Given the description of an element on the screen output the (x, y) to click on. 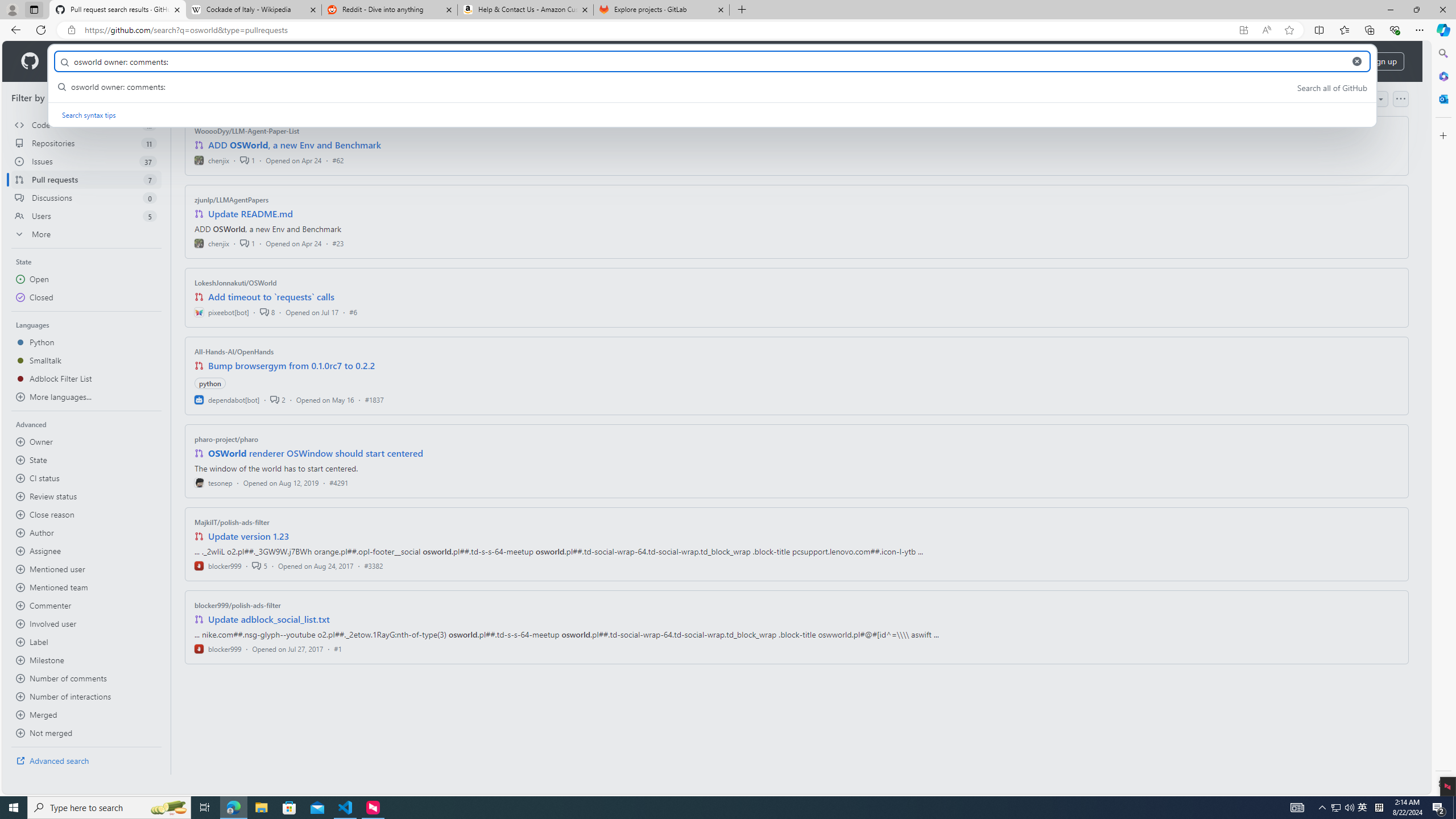
#3382 (373, 565)
1 (246, 242)
